Given the description of an element on the screen output the (x, y) to click on. 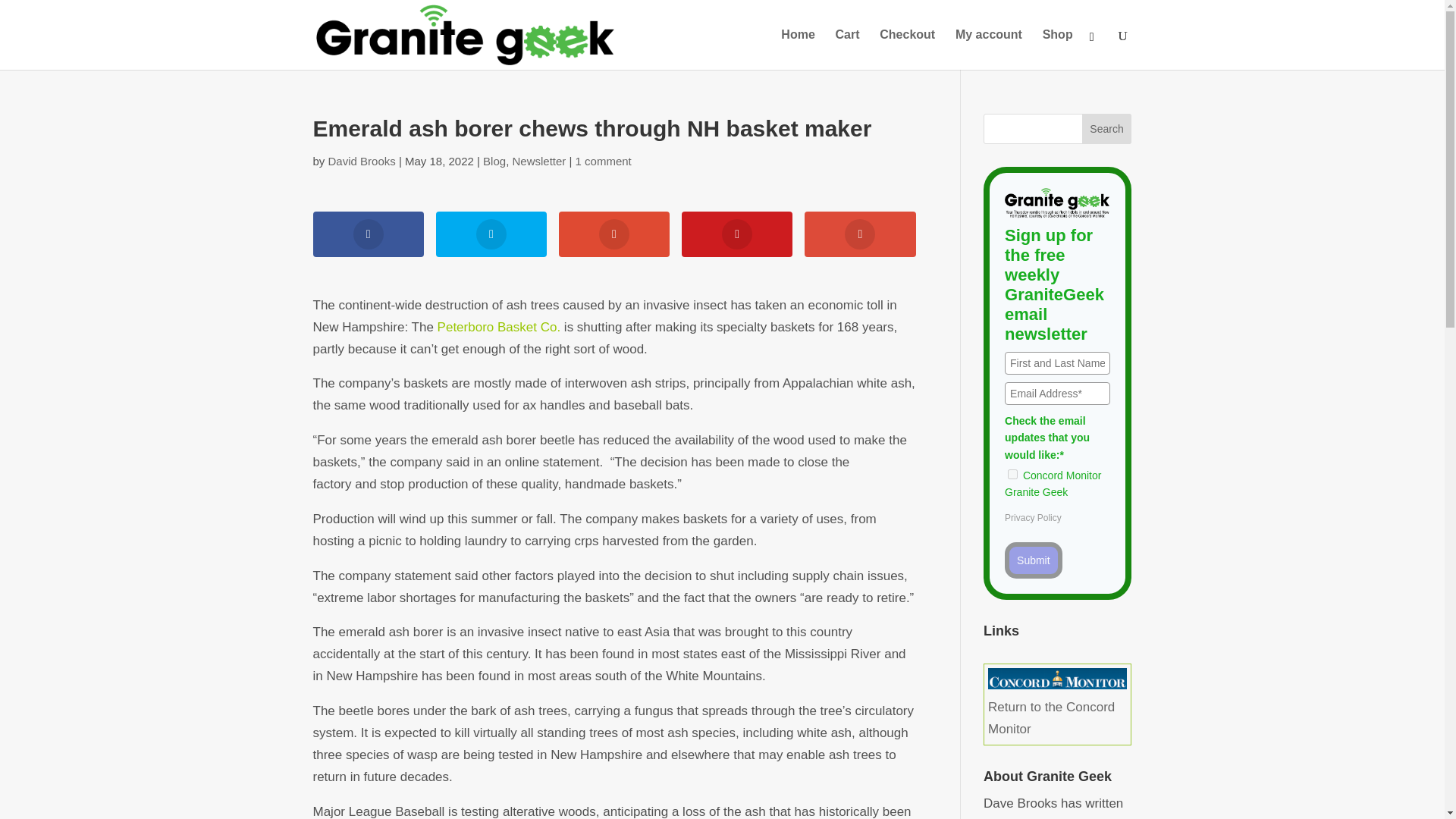
Search (1106, 128)
Peterboro Basket Co. (499, 327)
Cart (847, 49)
Submit (1033, 560)
Posts by David Brooks (362, 160)
1 comment (603, 160)
Blog (494, 160)
Shop (1057, 49)
Newsletter (539, 160)
25 (1012, 474)
Return to the Concord Monitor (1057, 707)
My account (988, 49)
Home (796, 49)
Privacy Policy (1032, 517)
David Brooks (362, 160)
